Given the description of an element on the screen output the (x, y) to click on. 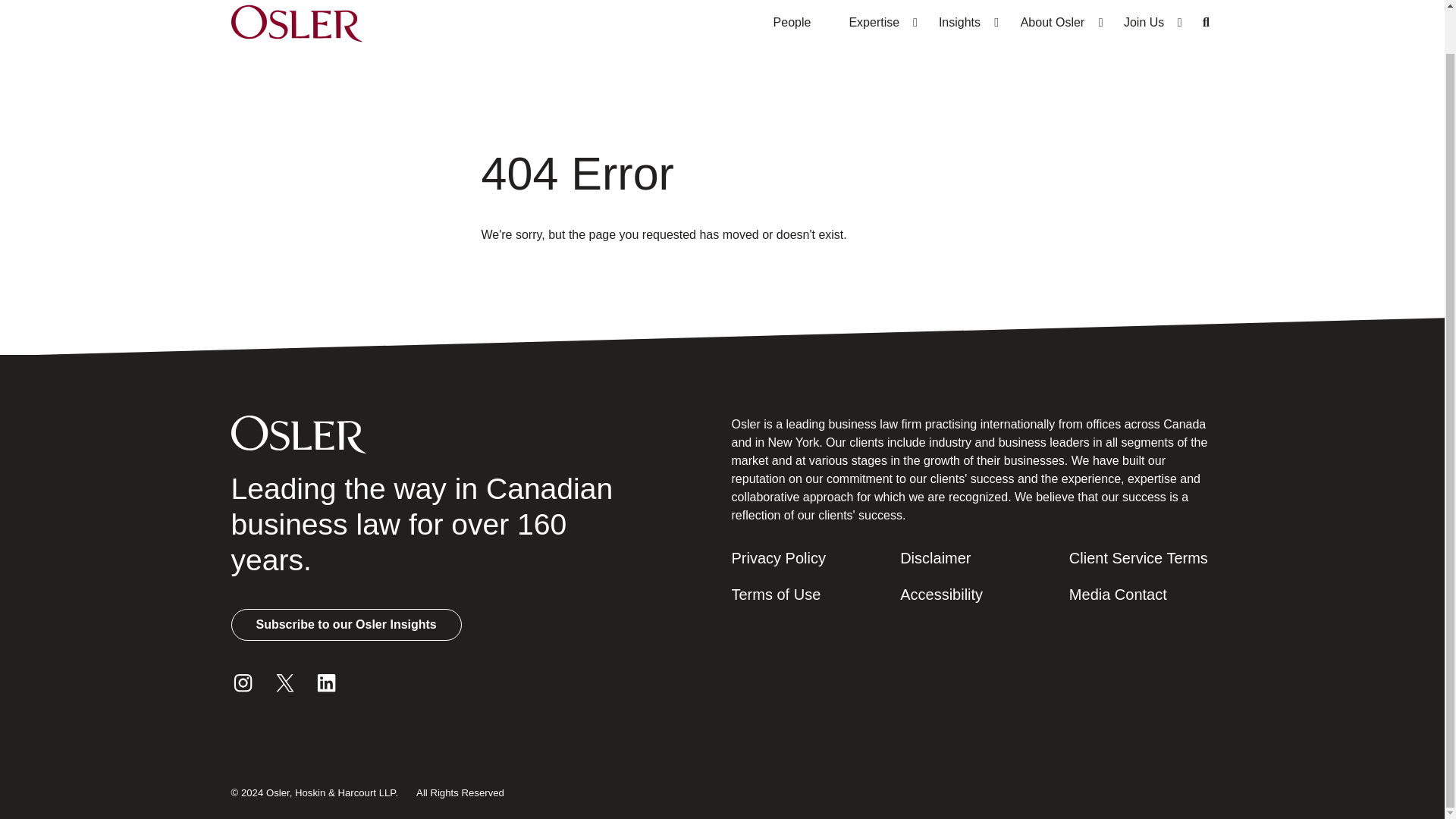
About Osler (1051, 27)
Expertise (874, 27)
Insights (959, 27)
Osler Logo (295, 27)
